Given the description of an element on the screen output the (x, y) to click on. 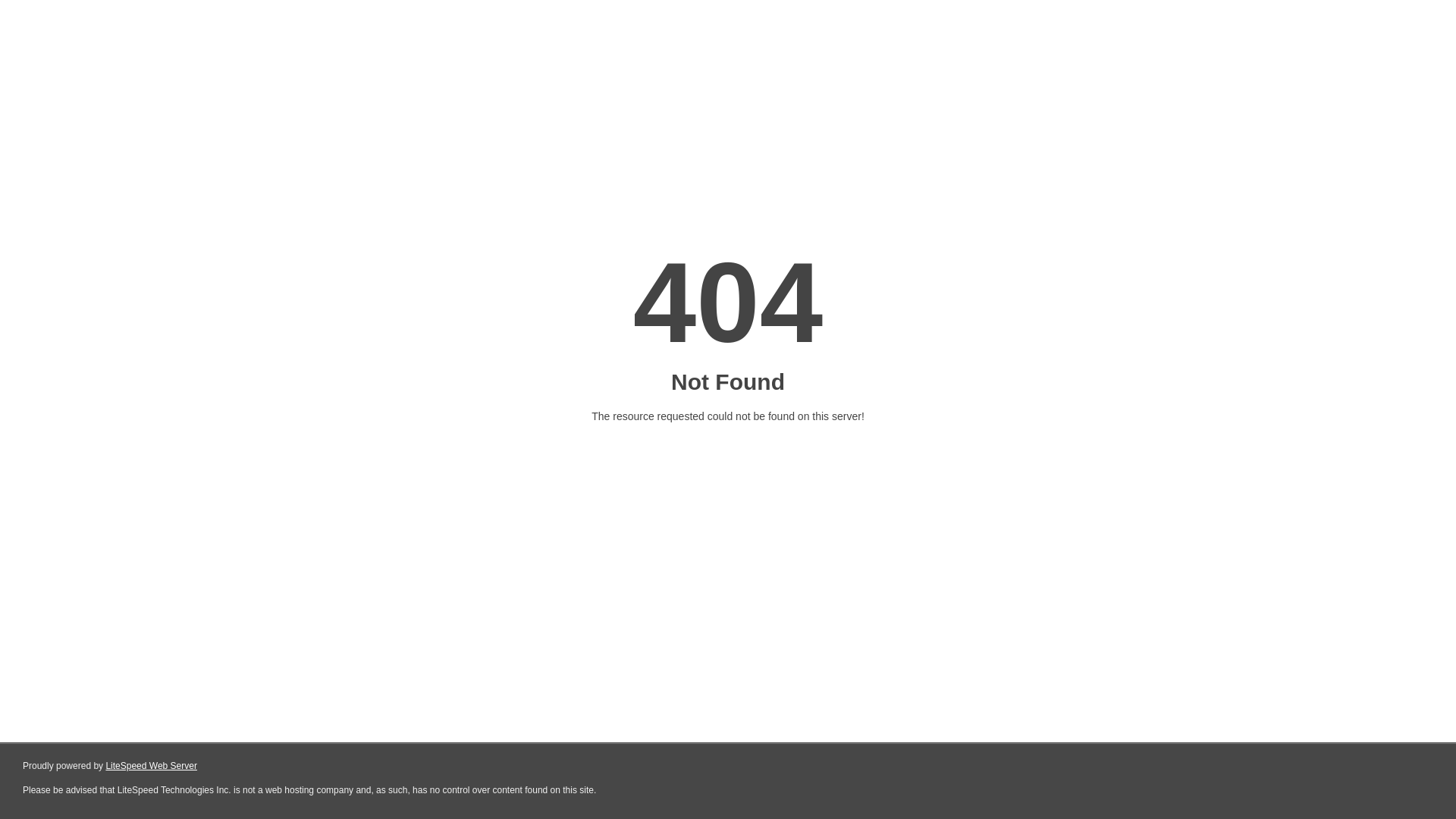
LiteSpeed Web Server Element type: text (151, 765)
